Given the description of an element on the screen output the (x, y) to click on. 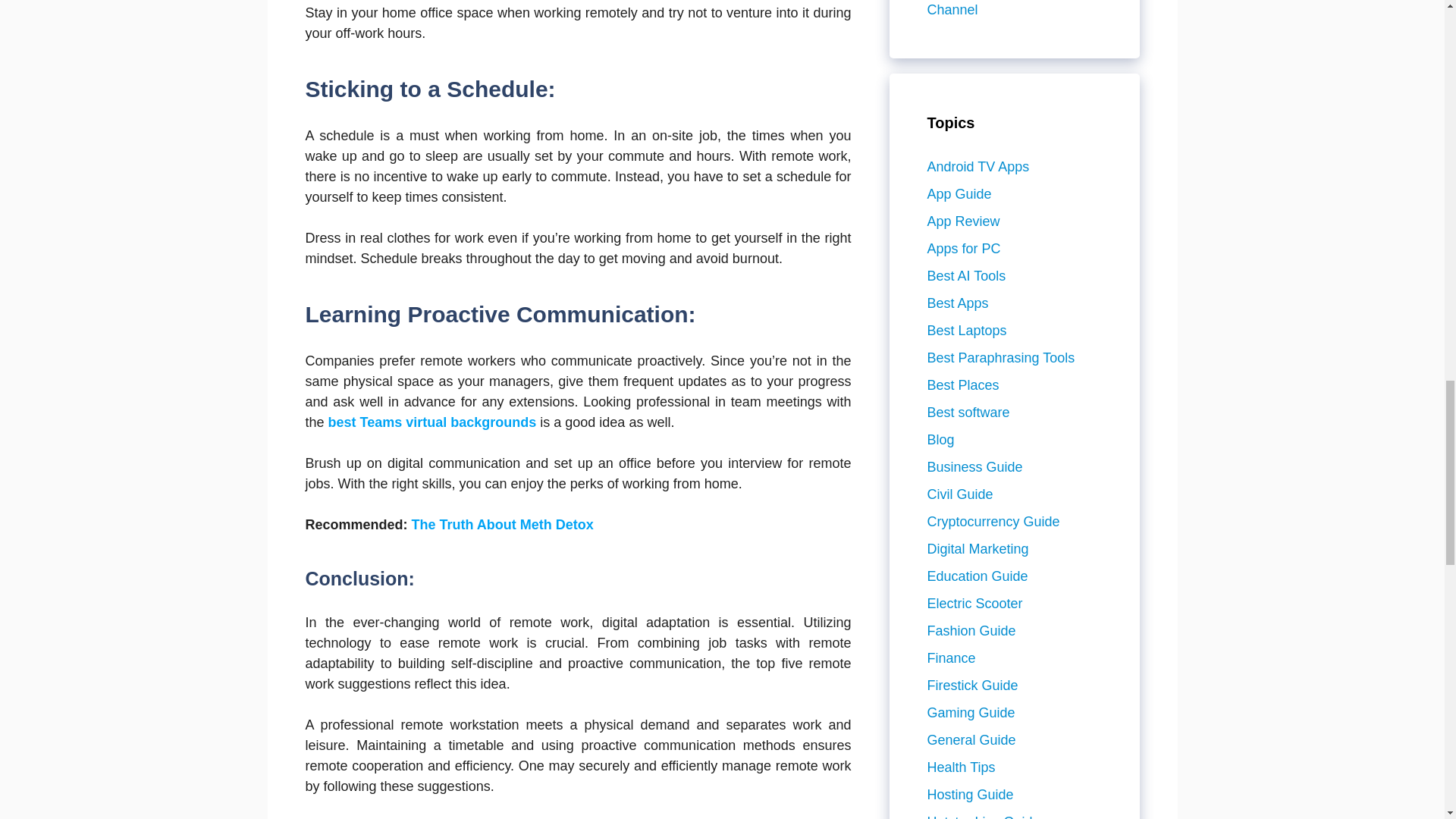
Best Laptops (966, 330)
Best Places (962, 385)
Best Paraphrasing Tools (1000, 357)
Apps for PC (963, 248)
App Guide (958, 193)
best Teams virtual backgrounds (433, 421)
App Review (962, 221)
5 Lesser-Thought Of Tactics for Growing Your YouTube Channel (1011, 8)
The Truth About Meth Detox (503, 524)
Best AI Tools (966, 275)
Best Apps (957, 303)
Android TV Apps (977, 166)
